Given the description of an element on the screen output the (x, y) to click on. 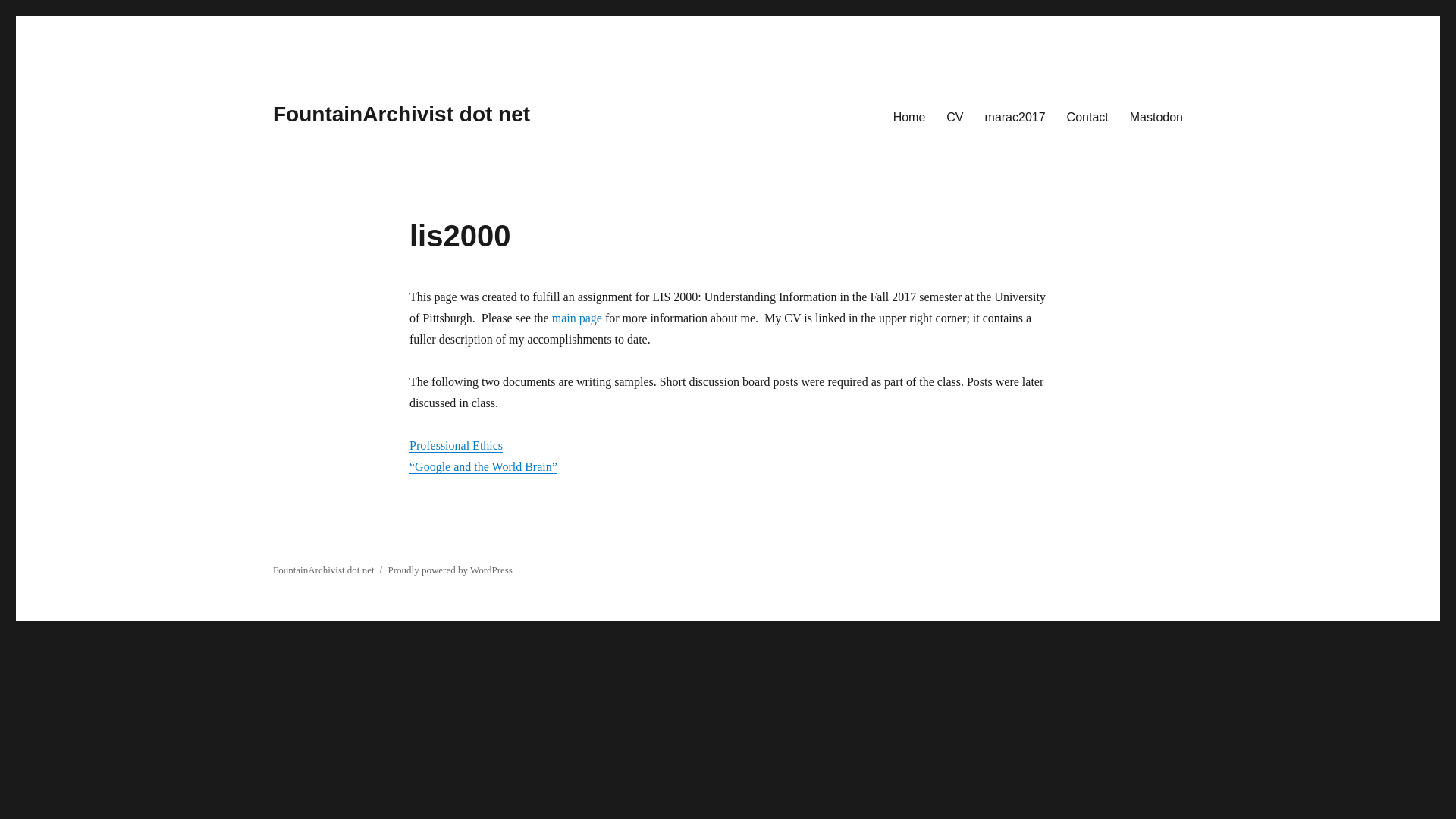
main page (576, 318)
Mastodon (1156, 116)
FountainArchivist dot net (323, 569)
Home (909, 116)
FountainArchivist dot net (401, 114)
Contact (1088, 116)
Proudly powered by WordPress (449, 569)
CV (955, 116)
marac2017 (1015, 116)
Professional Ethics (455, 445)
